Given the description of an element on the screen output the (x, y) to click on. 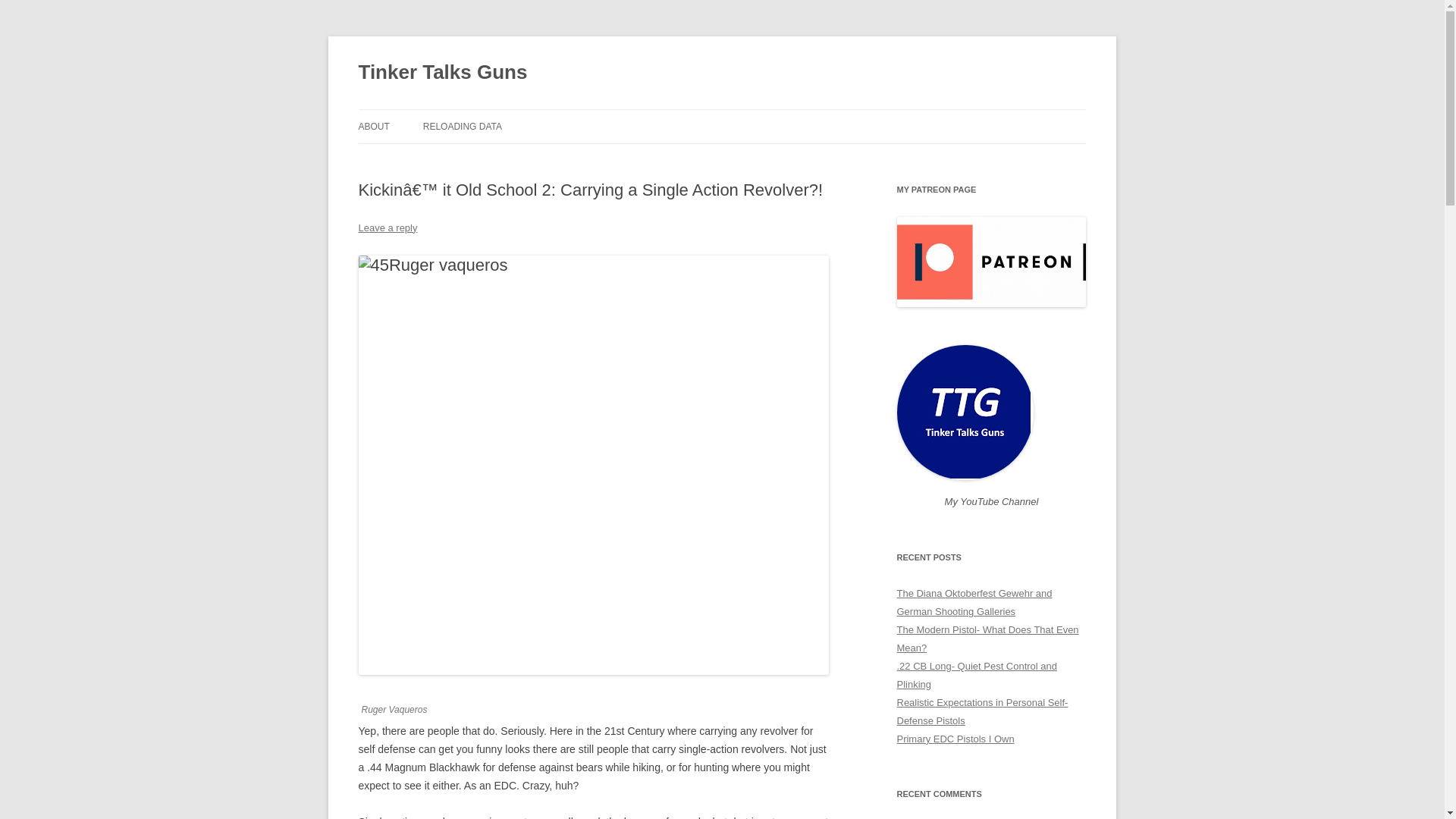
Primary EDC Pistols I Own (954, 738)
Leave a reply (387, 227)
Tinker Talks Guns (442, 72)
.22 CB Long- Quiet Pest Control and Plinking (976, 675)
RELOADING DATA (462, 126)
The Modern Pistol- What Does That Even Mean? (987, 638)
ABOUT (373, 126)
Tinker Talks Guns (442, 72)
Realistic Expectations in Personal Self-Defense Pistols (981, 711)
The Diana Oktoberfest Gewehr and German Shooting Galleries (973, 602)
